Given the description of an element on the screen output the (x, y) to click on. 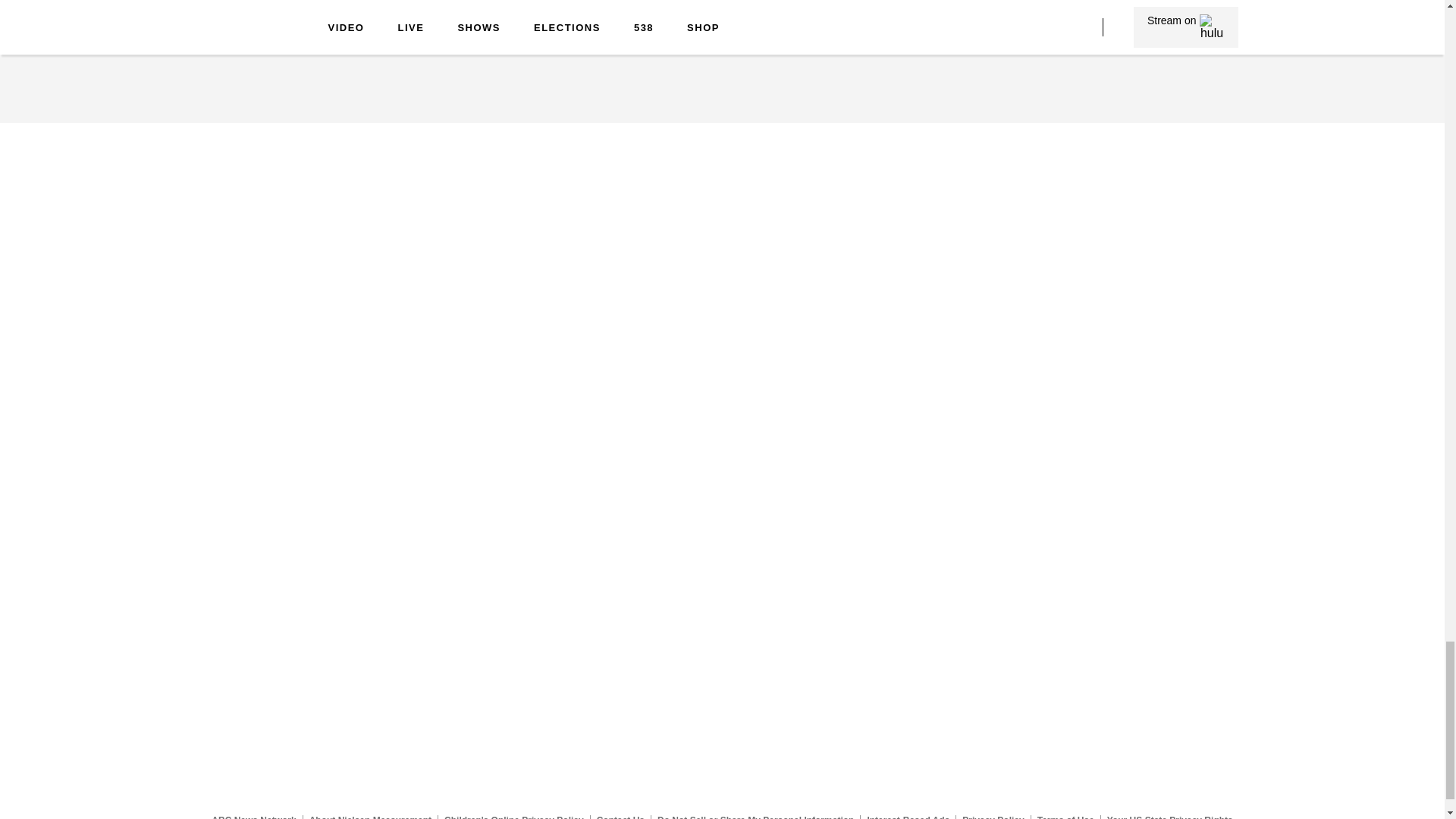
Do Not Sell or Share My Personal Information (755, 816)
Contact Us (620, 816)
Children's Online Privacy Policy (514, 816)
Interest-Based Ads (908, 816)
About Nielsen Measurement (370, 816)
ABC News Network (253, 816)
Privacy Policy (993, 816)
